Given the description of an element on the screen output the (x, y) to click on. 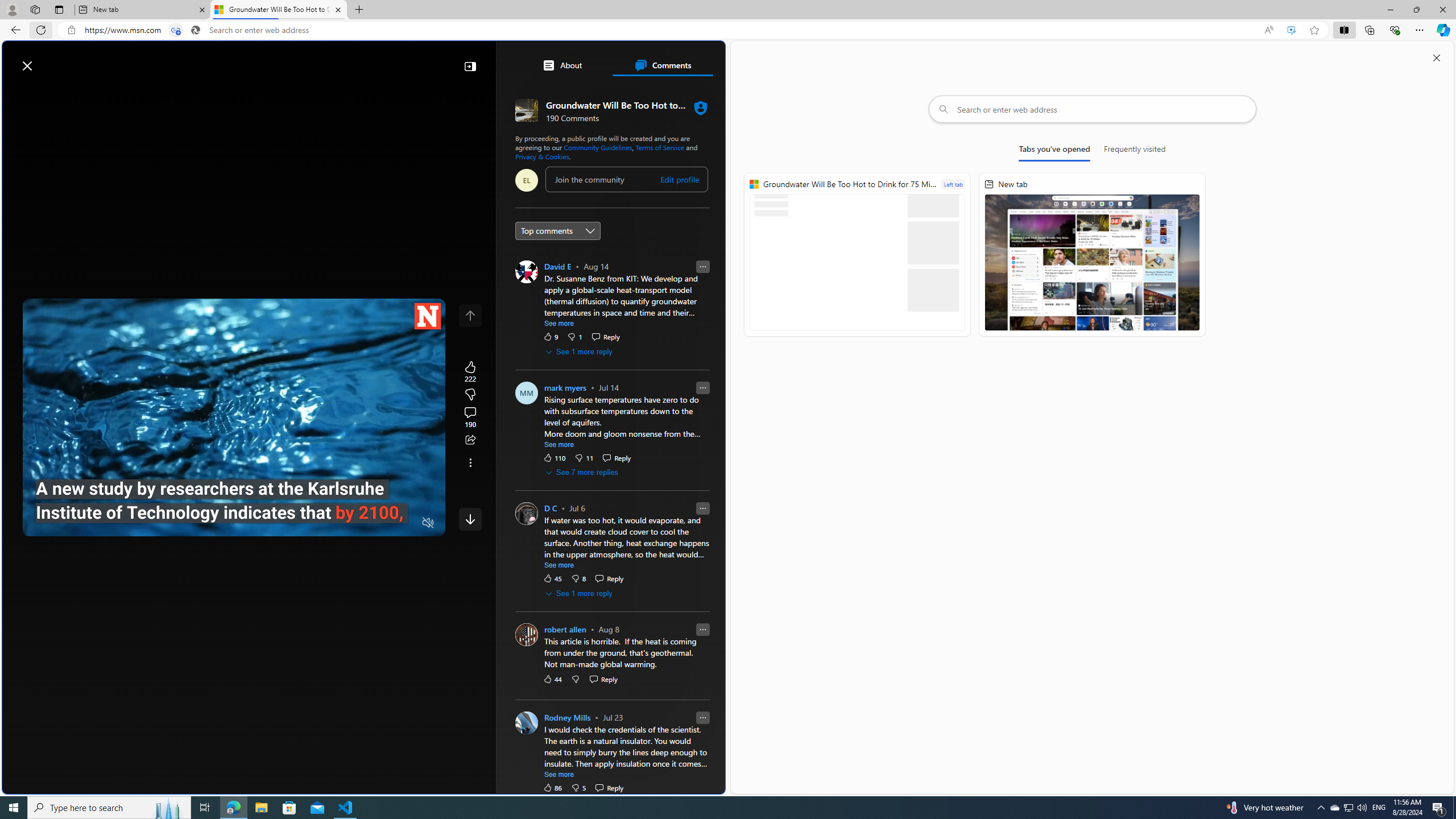
Class: control icon-only (469, 315)
Quality Settings (360, 523)
Close split screen (1436, 57)
Captions (383, 523)
comment-box (625, 179)
Terms of Service (659, 146)
